Given the description of an element on the screen output the (x, y) to click on. 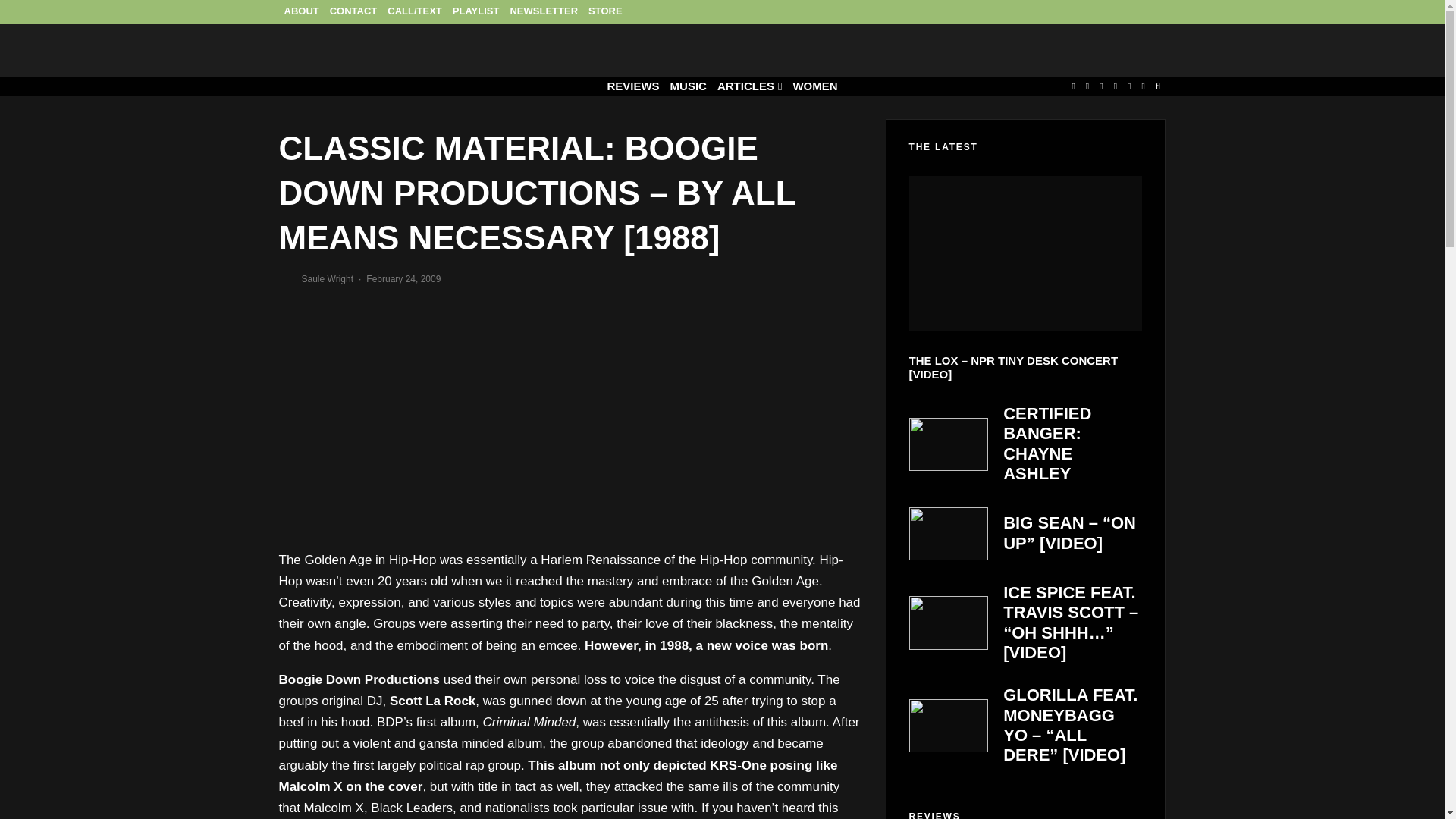
MUSIC (688, 86)
byallmeansnecessarycover (389, 419)
REVIEWS (632, 86)
ABOUT (301, 11)
STORE (605, 11)
PLAYLIST (475, 11)
CONTACT (353, 11)
Posts by Saule Wright (327, 278)
NEWSLETTER (543, 11)
ARTICLES (749, 86)
